Given the description of an element on the screen output the (x, y) to click on. 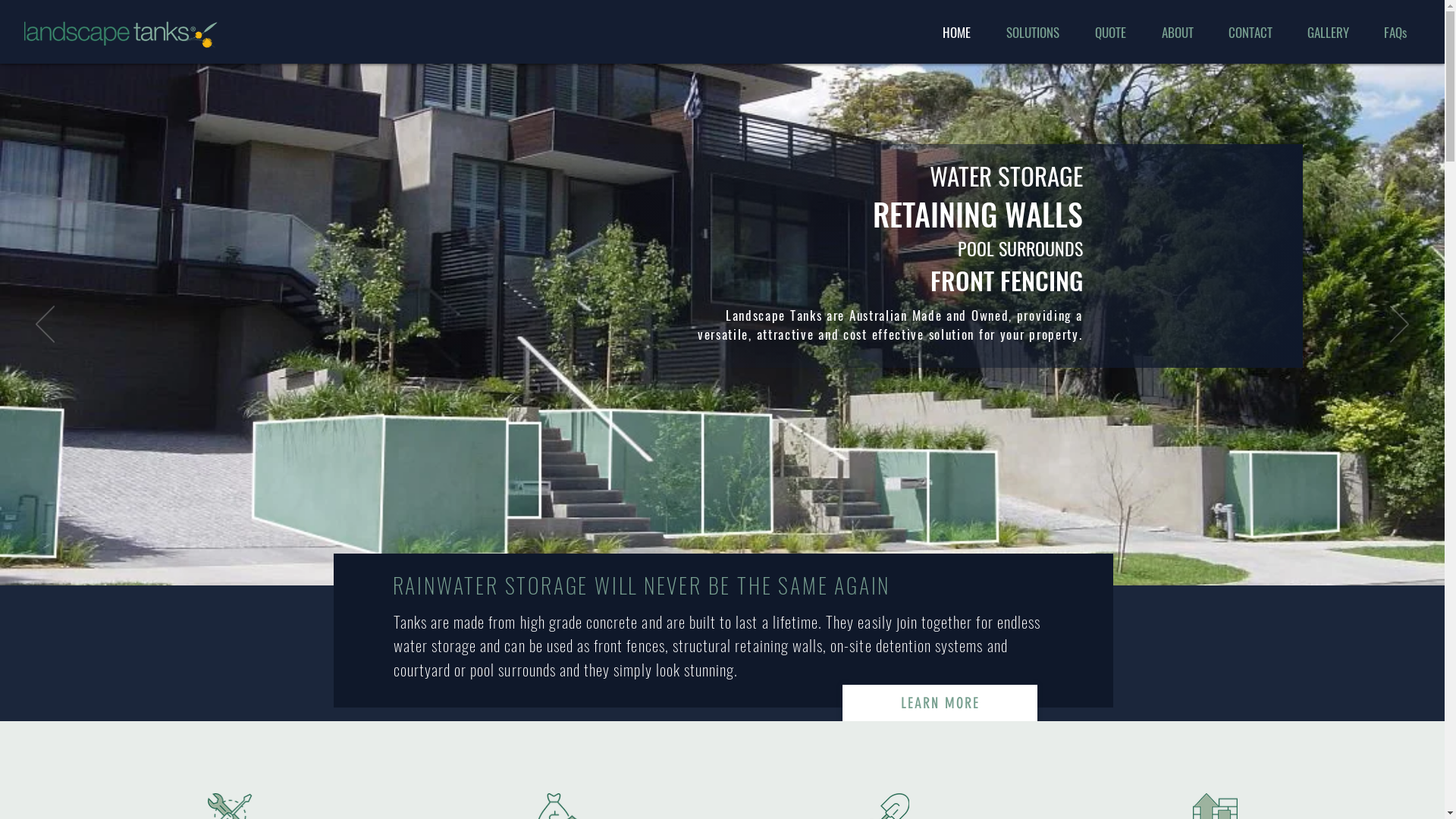
FAQs Element type: text (1395, 32)
CONTACT Element type: text (1250, 32)
ABOUT Element type: text (1177, 32)
HOME Element type: text (956, 32)
QUOTE Element type: text (1109, 32)
LEARN MORE Element type: text (938, 702)
Embedded Content Element type: hover (1430, 36)
GALLERY Element type: text (1327, 32)
